Given the description of an element on the screen output the (x, y) to click on. 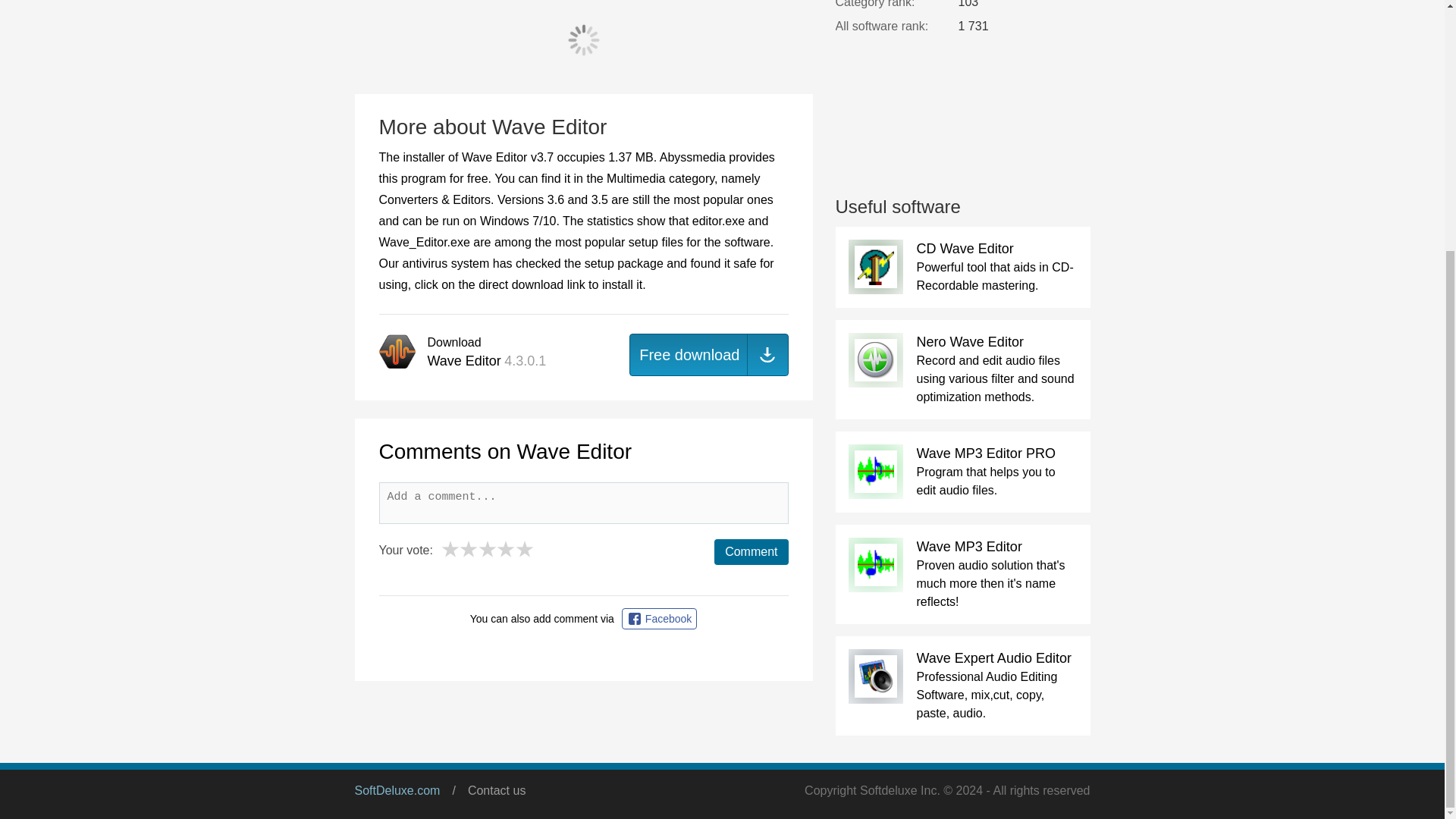
SoftDeluxe.com (398, 789)
CD Wave Editor (964, 248)
Free download (707, 354)
Wave MP3 Editor PRO (984, 453)
Comment (750, 551)
Comment (750, 551)
Wave Expert Audio Editor (992, 657)
Wave MP3 Editor (968, 546)
Contact us (496, 789)
Nero Wave Editor (969, 341)
